Given the description of an element on the screen output the (x, y) to click on. 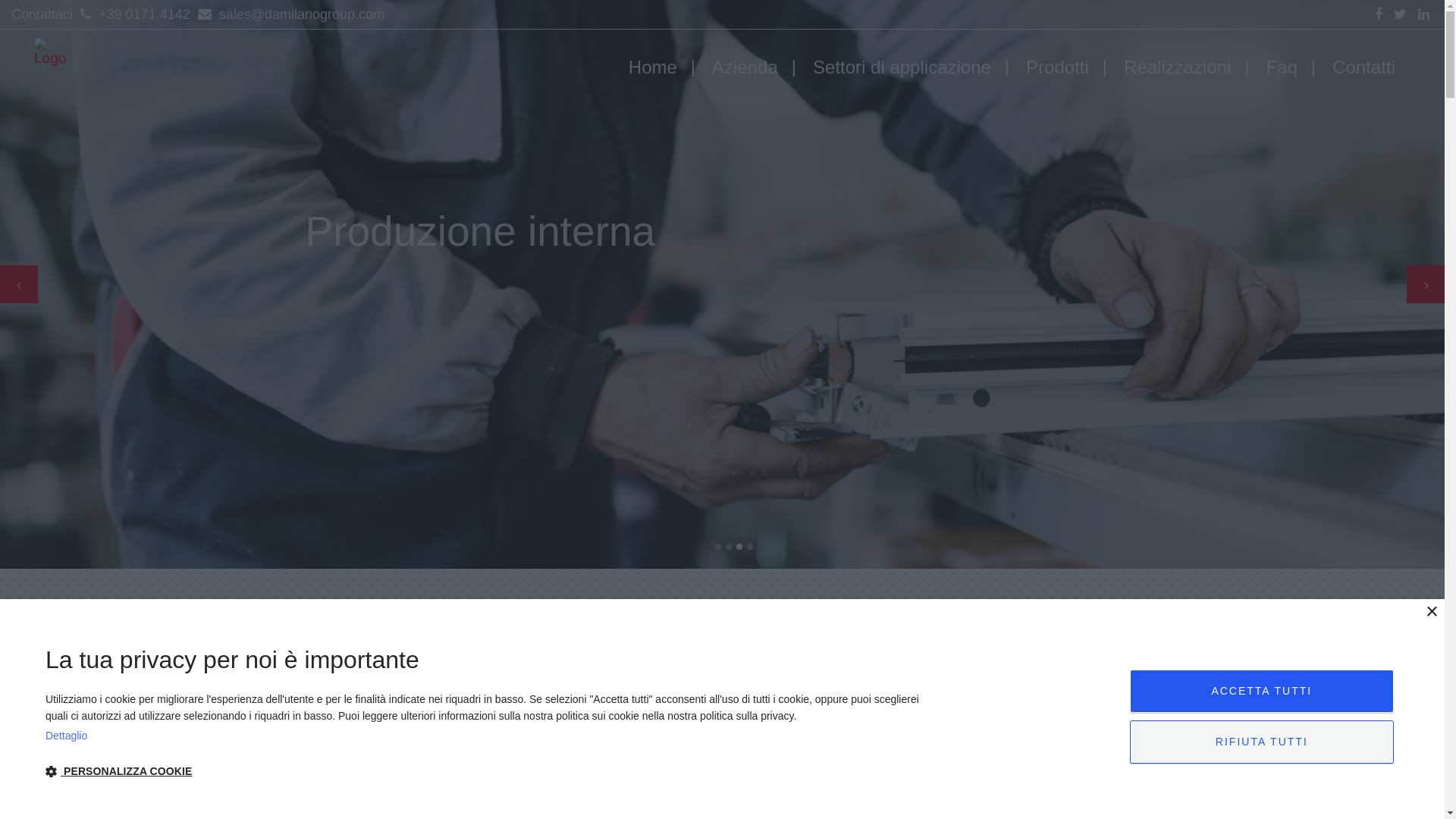
+39 0171 4142 Element type: text (133, 13)
Prodotti Element type: text (1057, 67)
Azienda Element type: text (744, 67)
Contatti Element type: text (1363, 67)
Dettaglio Element type: text (485, 735)
Settori di applicazione Element type: text (901, 67)
Faq Element type: text (1281, 67)
sales@damilanogroup.com Element type: text (289, 13)
Home Element type: text (652, 67)
Realizzazioni Element type: text (1176, 67)
